Given the description of an element on the screen output the (x, y) to click on. 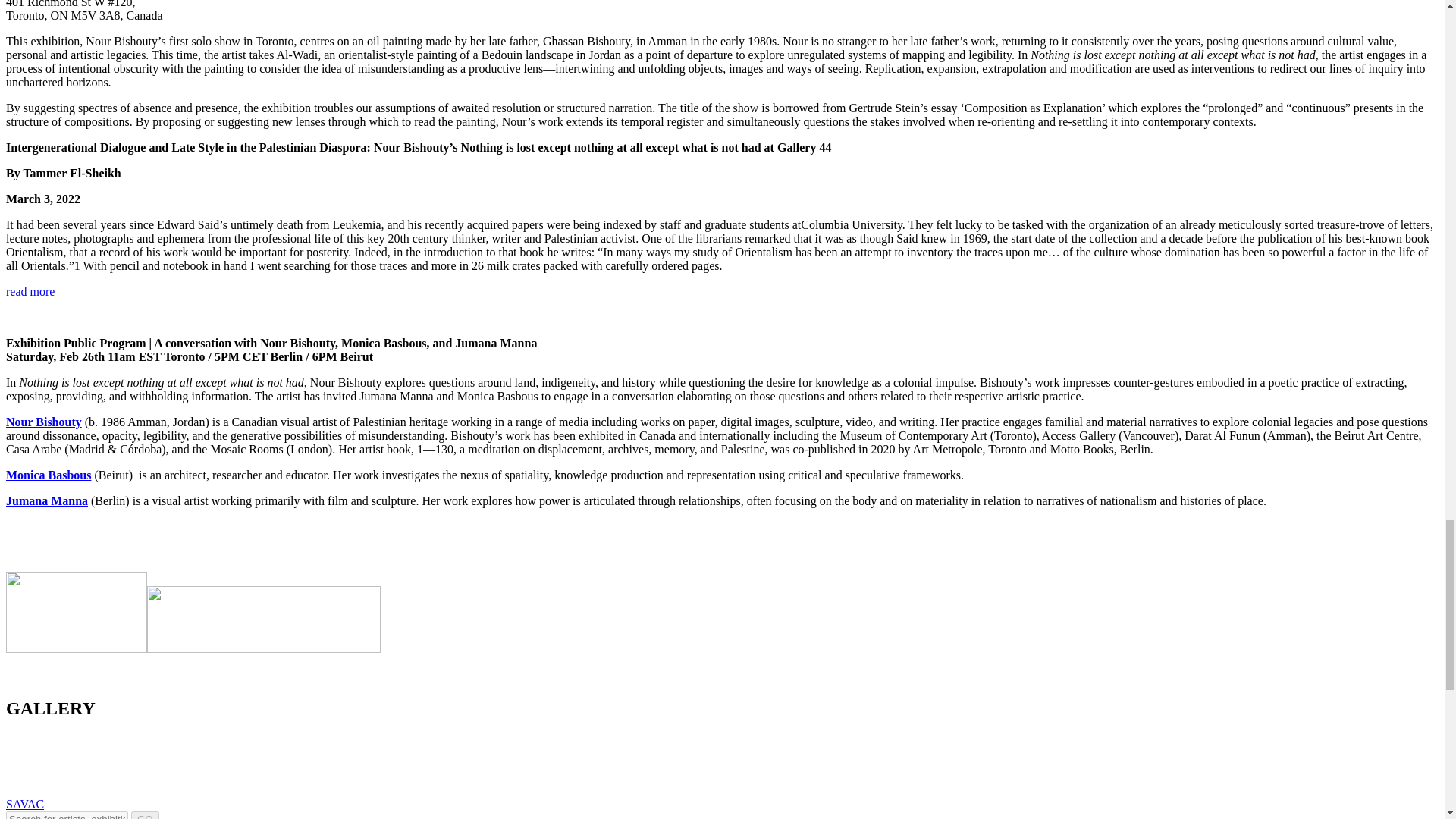
GO (144, 815)
GO (144, 815)
